Given the description of an element on the screen output the (x, y) to click on. 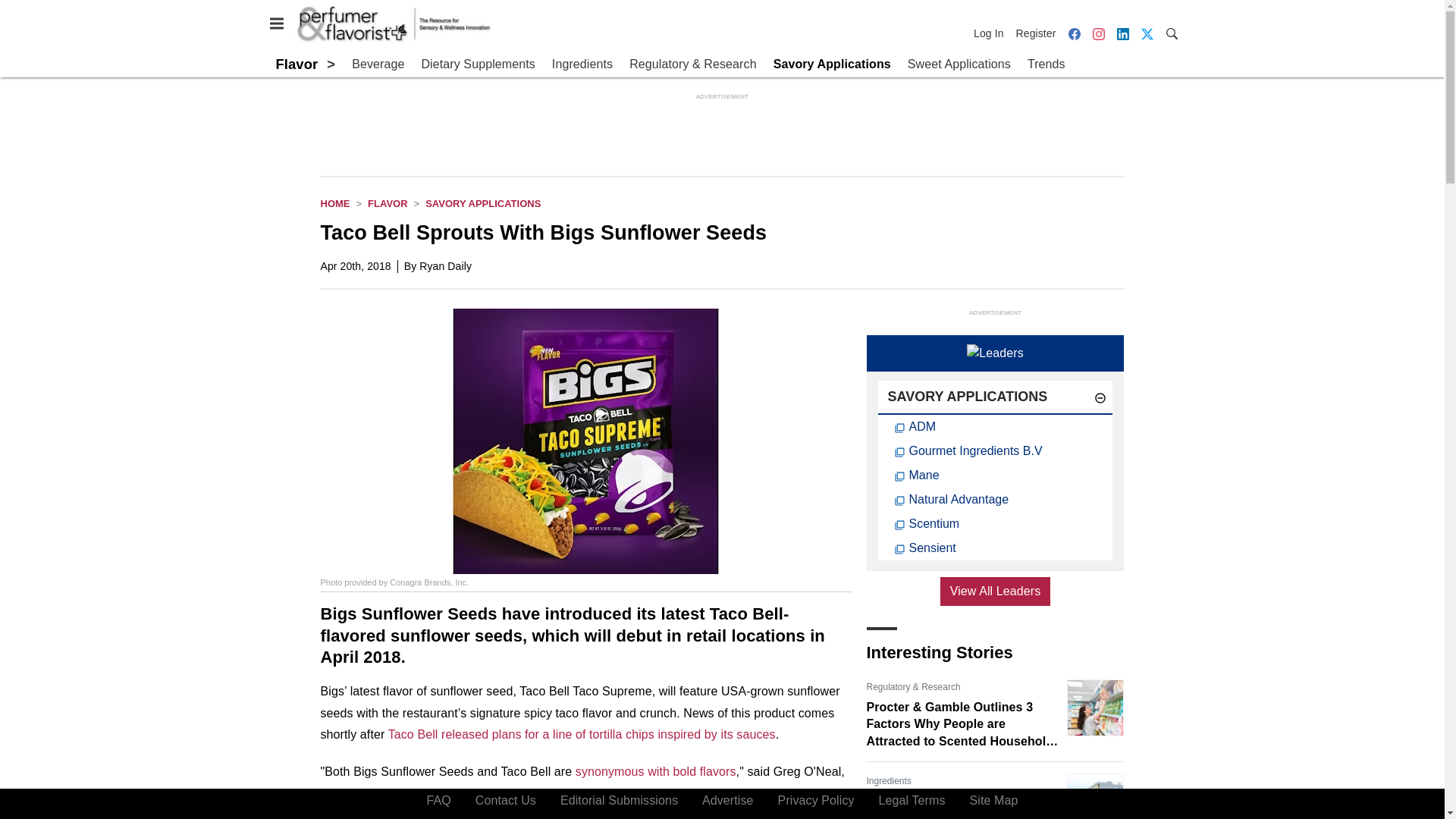
Register (1036, 33)
Dietary Supplements (477, 64)
LinkedIn icon (1122, 33)
Beverage (378, 64)
Search (1170, 32)
LinkedIn icon (1121, 33)
Savory Applications (482, 203)
Instagram icon (1097, 33)
Instagram icon (1097, 33)
Twitter X icon (1146, 33)
